Given the description of an element on the screen output the (x, y) to click on. 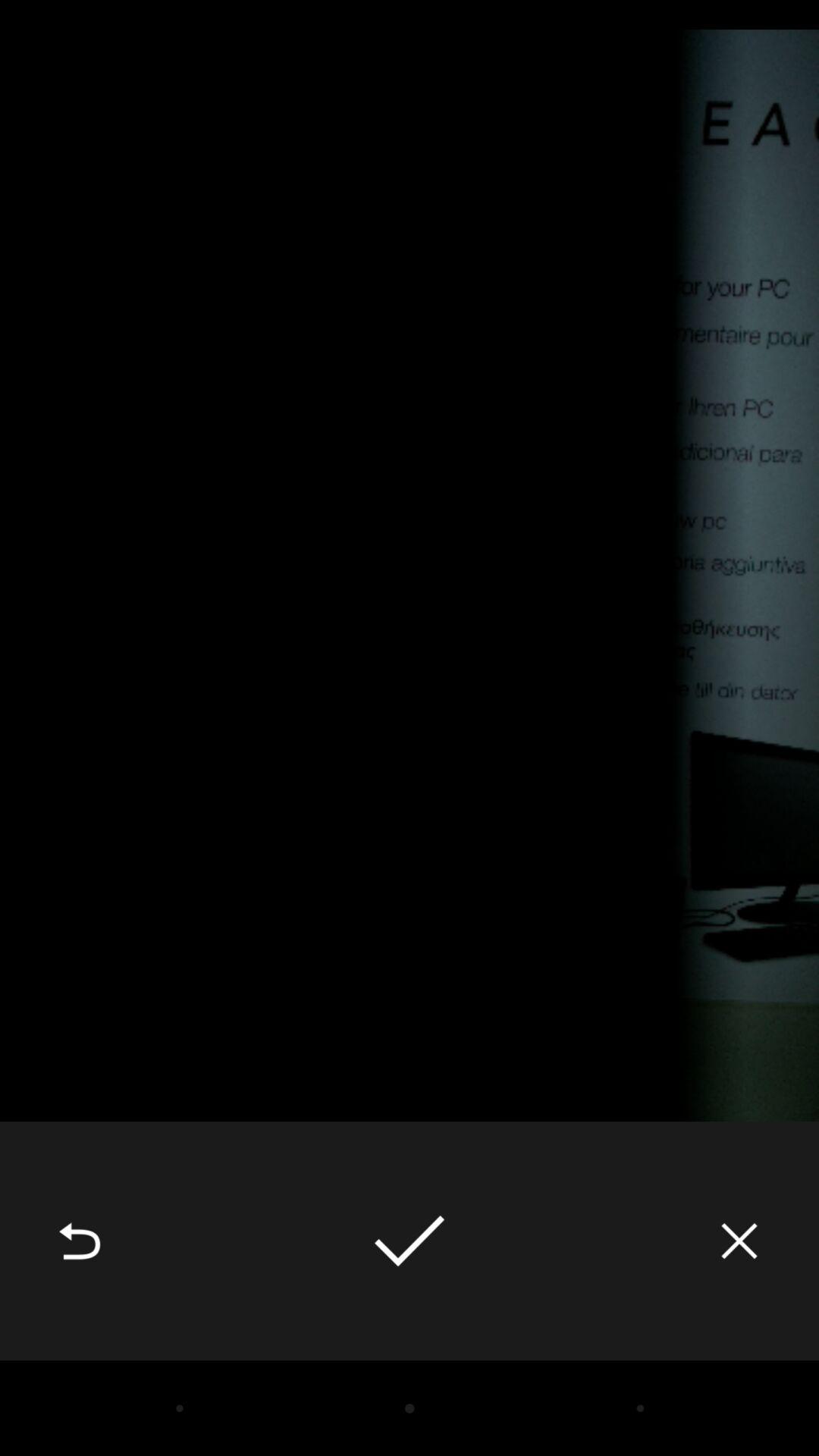
select the item at the bottom left corner (79, 1240)
